Given the description of an element on the screen output the (x, y) to click on. 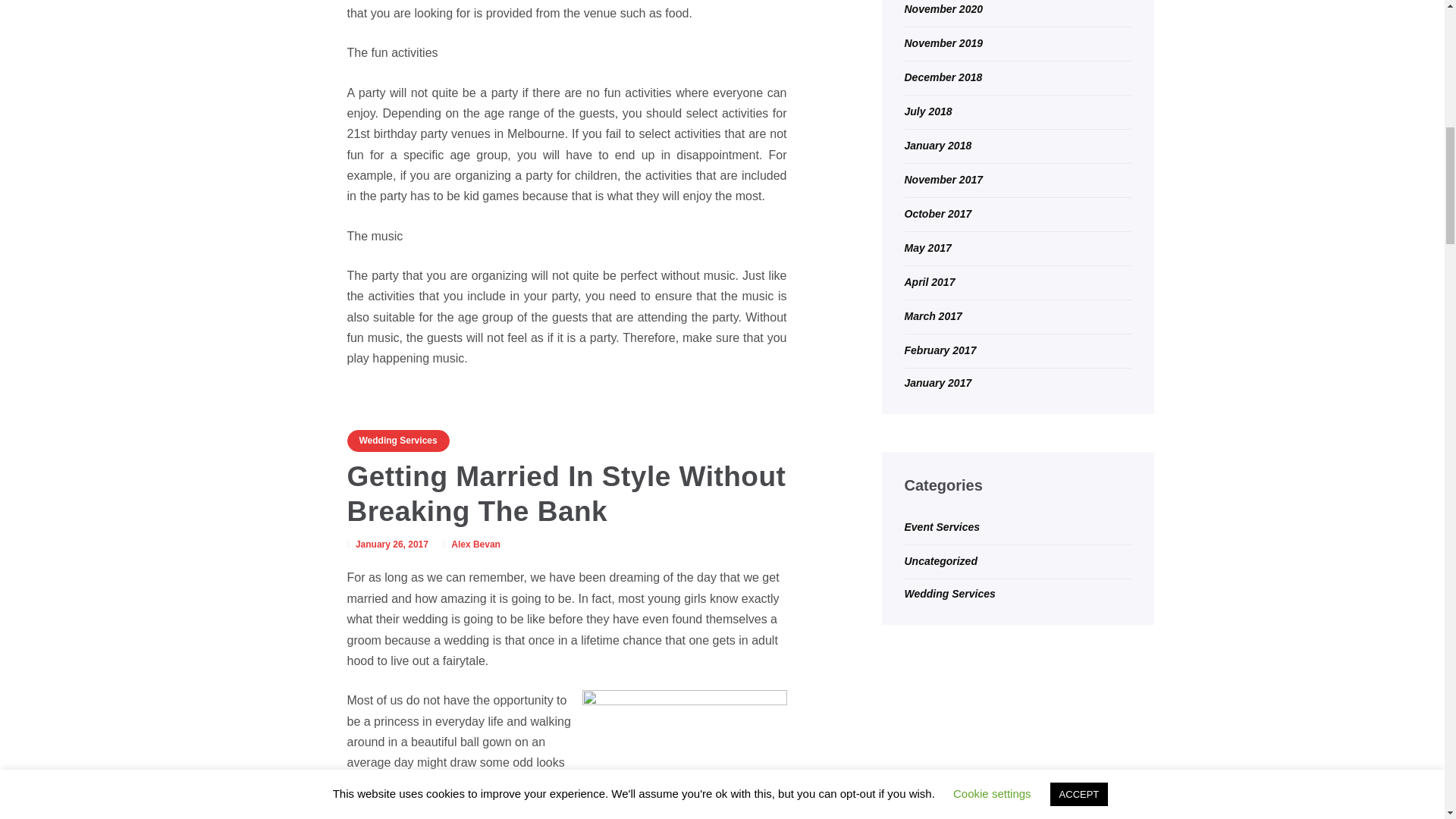
Uncategorized (940, 561)
December 2018 (942, 77)
February 2017 (939, 349)
April 2017 (929, 282)
November 2020 (943, 9)
January 2018 (937, 145)
October 2017 (937, 214)
July 2018 (928, 111)
Event Services (941, 526)
January 2017 (937, 382)
November 2017 (943, 179)
November 2019 (943, 42)
Getting Married In Style Without Breaking The Bank (566, 494)
March 2017 (932, 316)
May 2017 (927, 247)
